Given the description of an element on the screen output the (x, y) to click on. 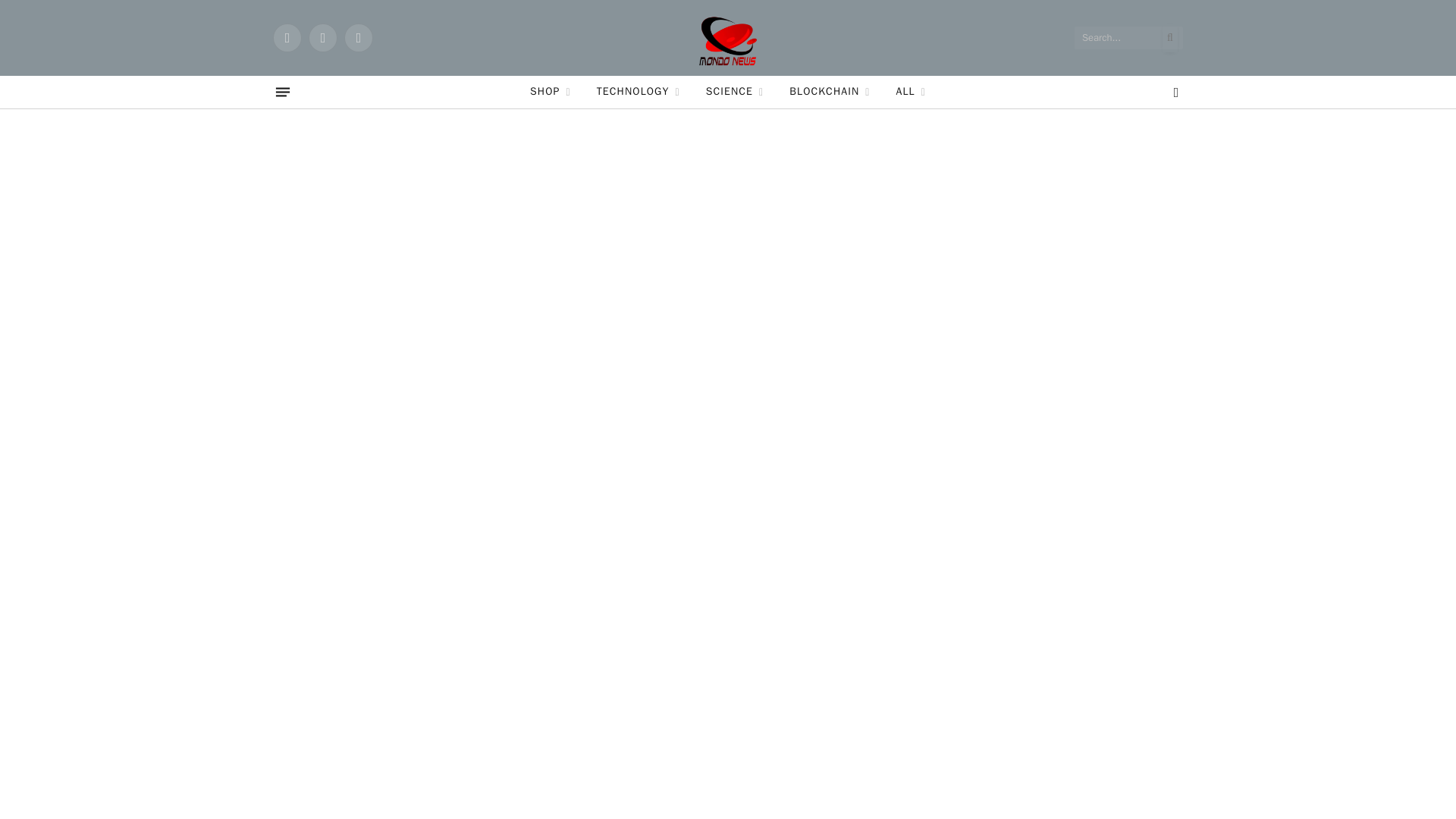
SHOP (549, 92)
TECHNOLOGY (638, 92)
Facebook (287, 37)
Instagram (357, 37)
